Given the description of an element on the screen output the (x, y) to click on. 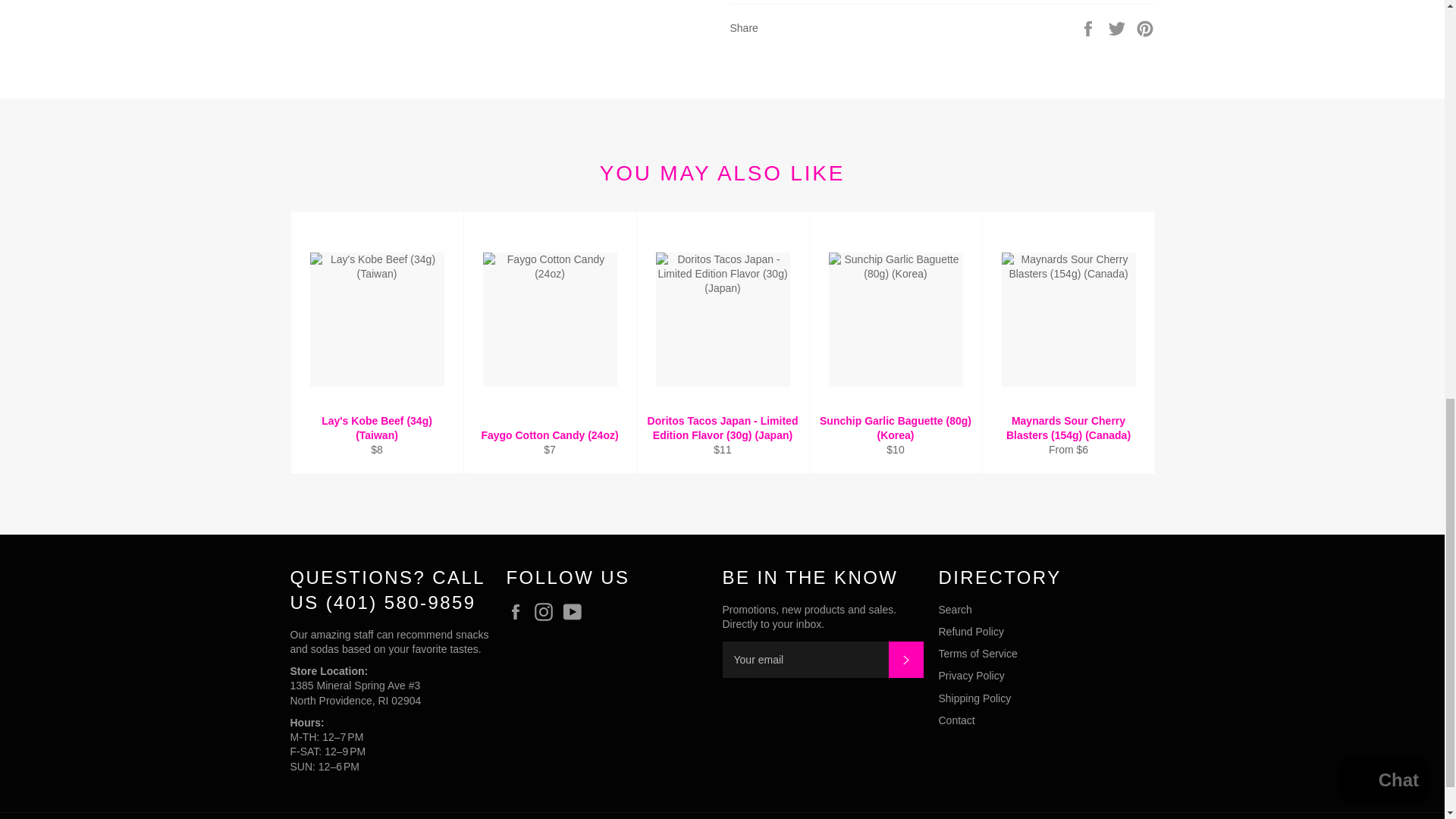
Share on Facebook (1089, 28)
Pin on Pinterest (1144, 28)
Tweet on Twitter (1118, 28)
